Given the description of an element on the screen output the (x, y) to click on. 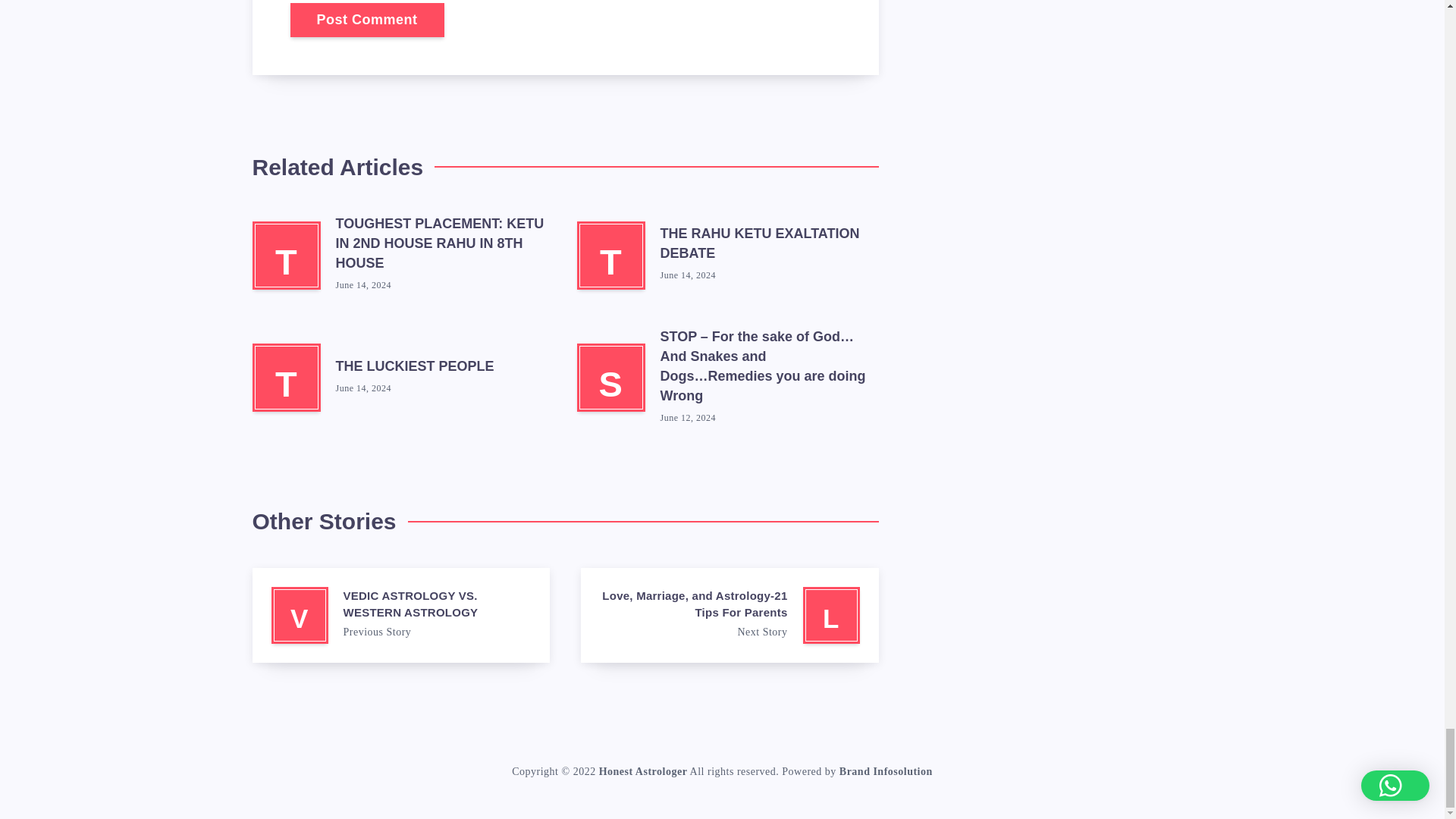
Post Comment (366, 19)
